Given the description of an element on the screen output the (x, y) to click on. 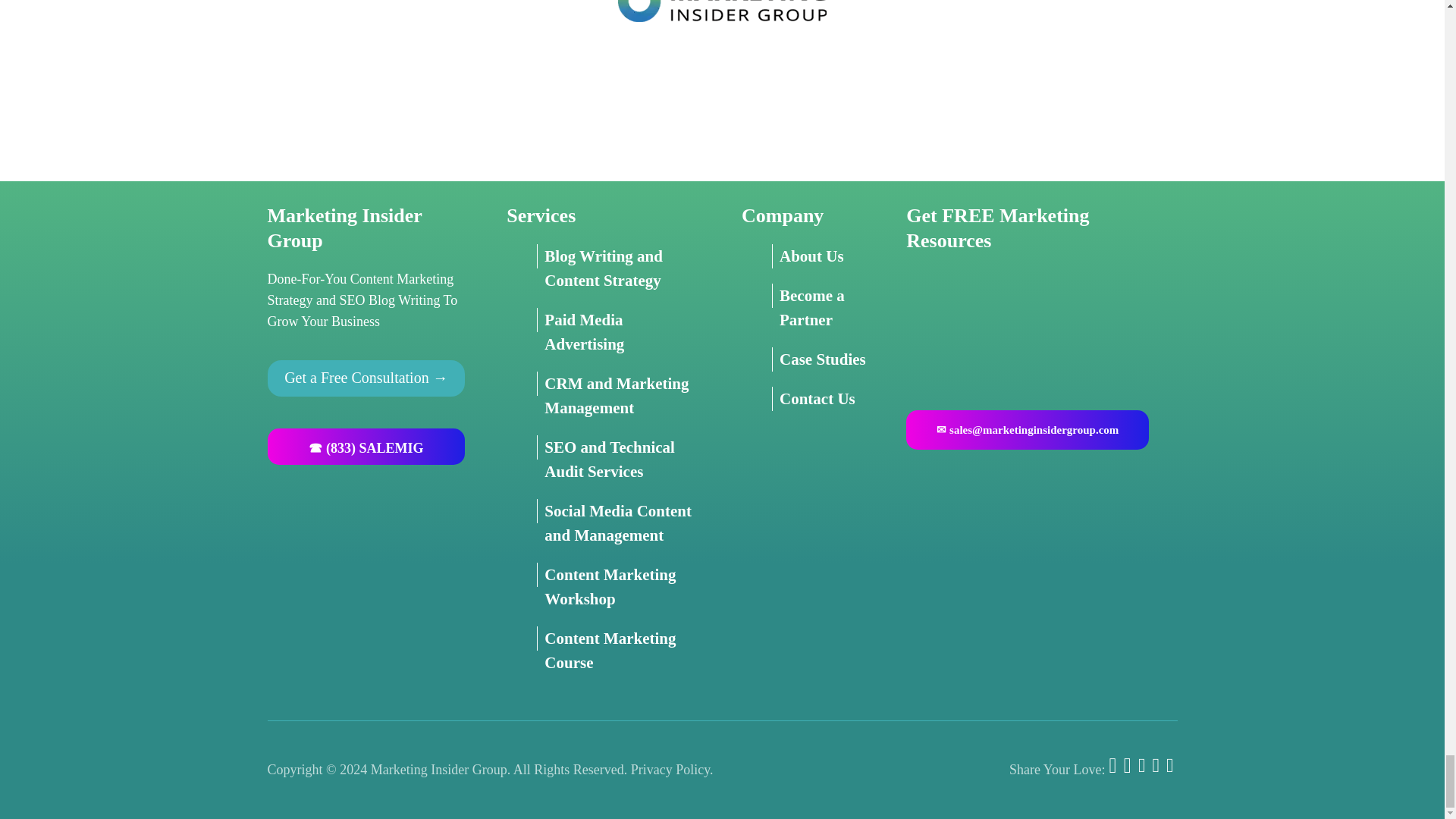
Registration (1040, 325)
